Given the description of an element on the screen output the (x, y) to click on. 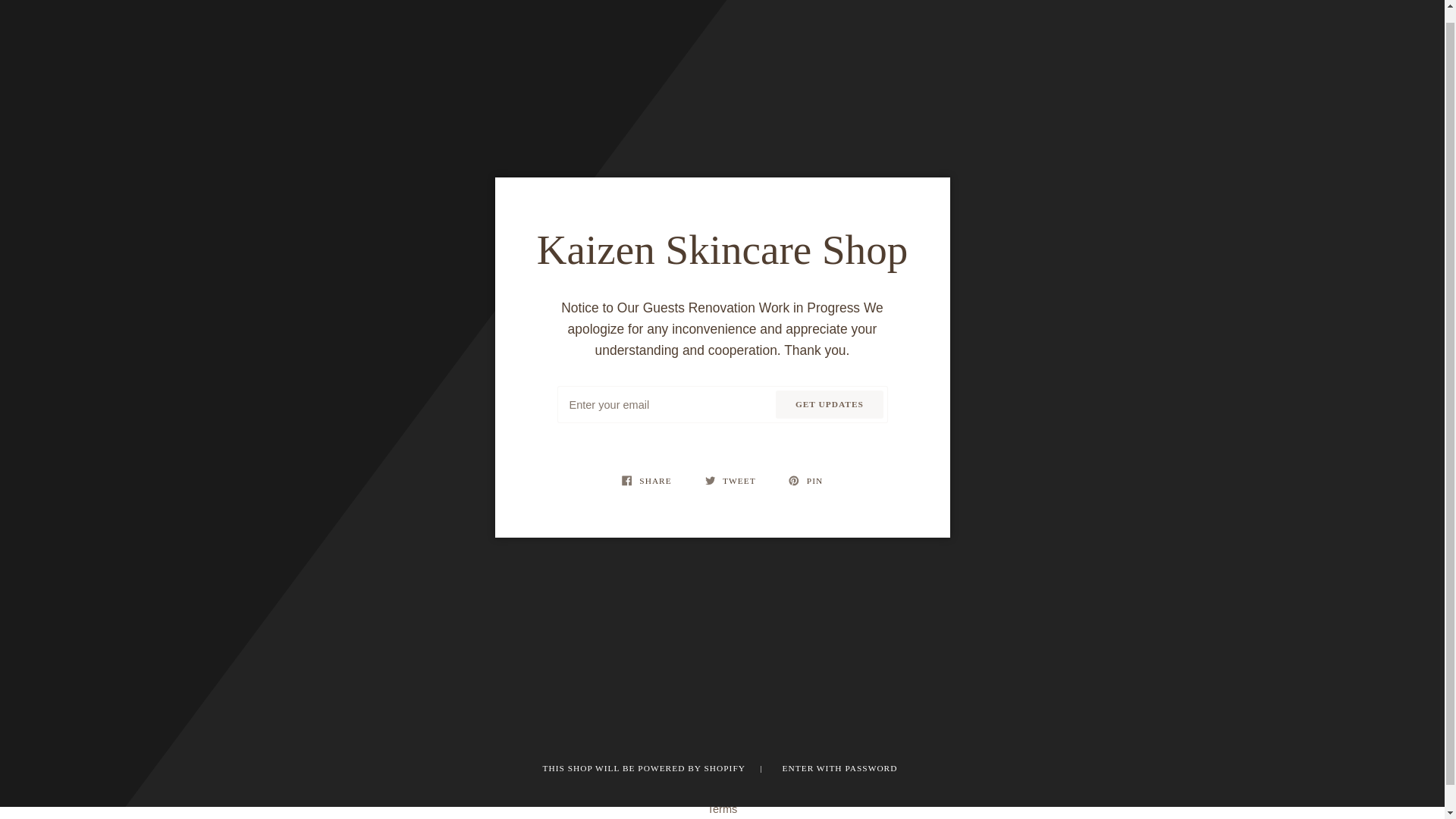
GET UPDATES (829, 404)
TWEET (732, 480)
THIS SHOP WILL BE POWERED BY SHOPIFY (645, 768)
SHARE (648, 480)
Terms (722, 808)
ENTER WITH PASSWORD (839, 767)
Privacy (722, 788)
PIN (804, 480)
